Given the description of an element on the screen output the (x, y) to click on. 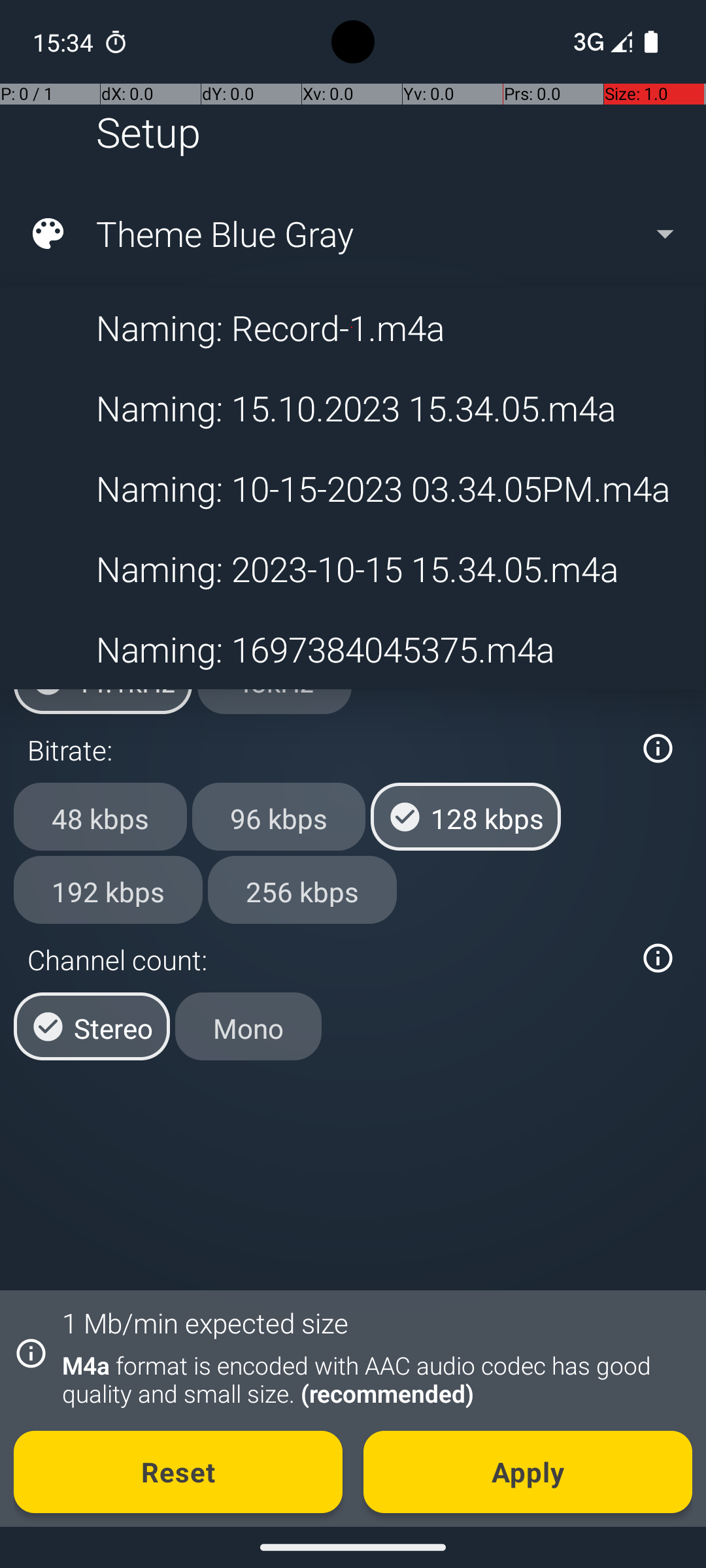
Naming: 15.10.2023 15.34.05.m4a Element type: android.widget.TextView (352, 407)
Naming: 10-15-2023 03.34.05PM.m4a Element type: android.widget.TextView (352, 488)
Naming: 2023-10-15 15.34.05.m4a Element type: android.widget.TextView (352, 568)
Naming: 1697384045375.m4a Element type: android.widget.TextView (352, 648)
